Given the description of an element on the screen output the (x, y) to click on. 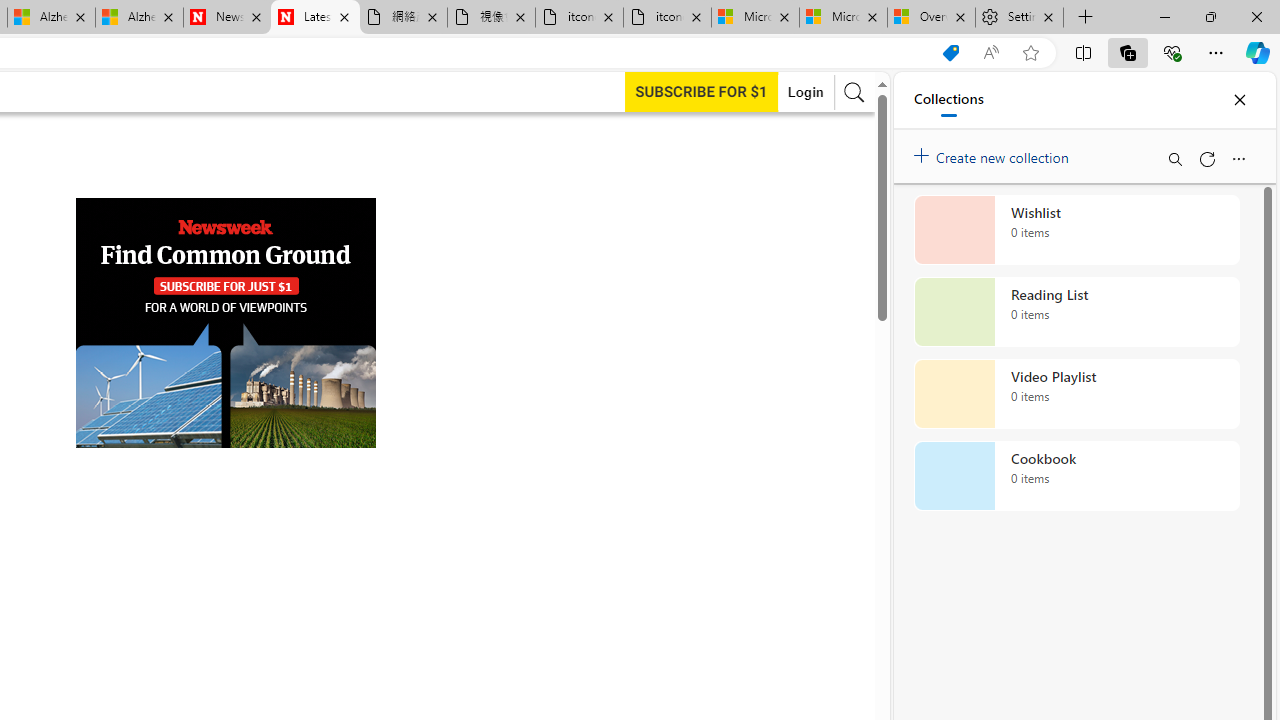
More options menu (1238, 158)
Microsoft account | Privacy (843, 17)
Shopping in Microsoft Edge (950, 53)
AutomationID: search-btn (854, 92)
Login (805, 92)
Subscribe to our service (701, 91)
